Given the description of an element on the screen output the (x, y) to click on. 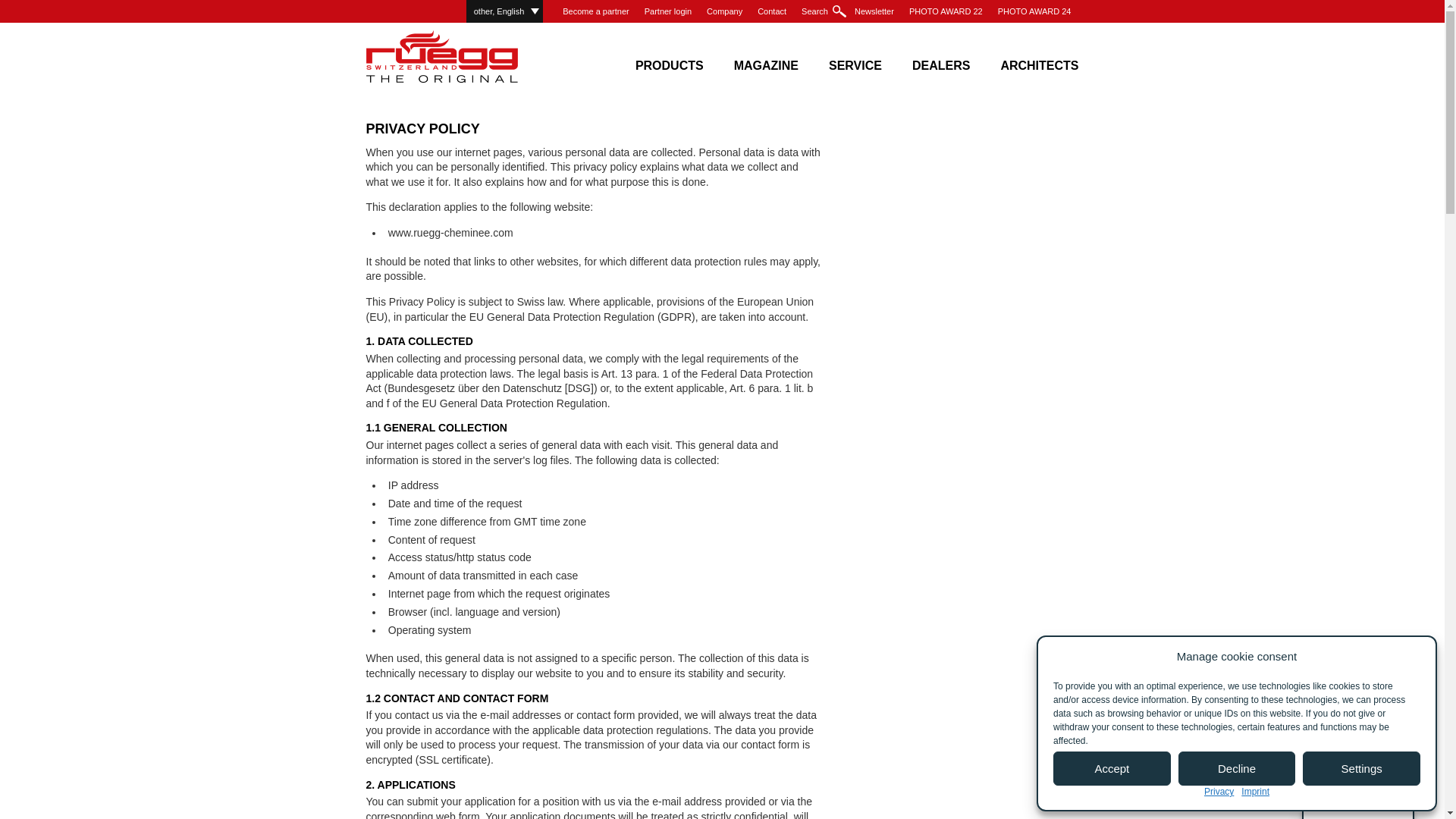
Newsletter (874, 11)
Products (668, 60)
PHOTO AWARD 24 (1034, 11)
MAGAZINE (765, 60)
Search (820, 11)
Company (723, 11)
Service (855, 60)
Become a partner (595, 11)
Magazine (765, 60)
ARCHITECTS (1039, 60)
Contact (771, 11)
Search (820, 11)
PRODUCTS (668, 60)
Partner login (667, 11)
Contact (771, 11)
